Given the description of an element on the screen output the (x, y) to click on. 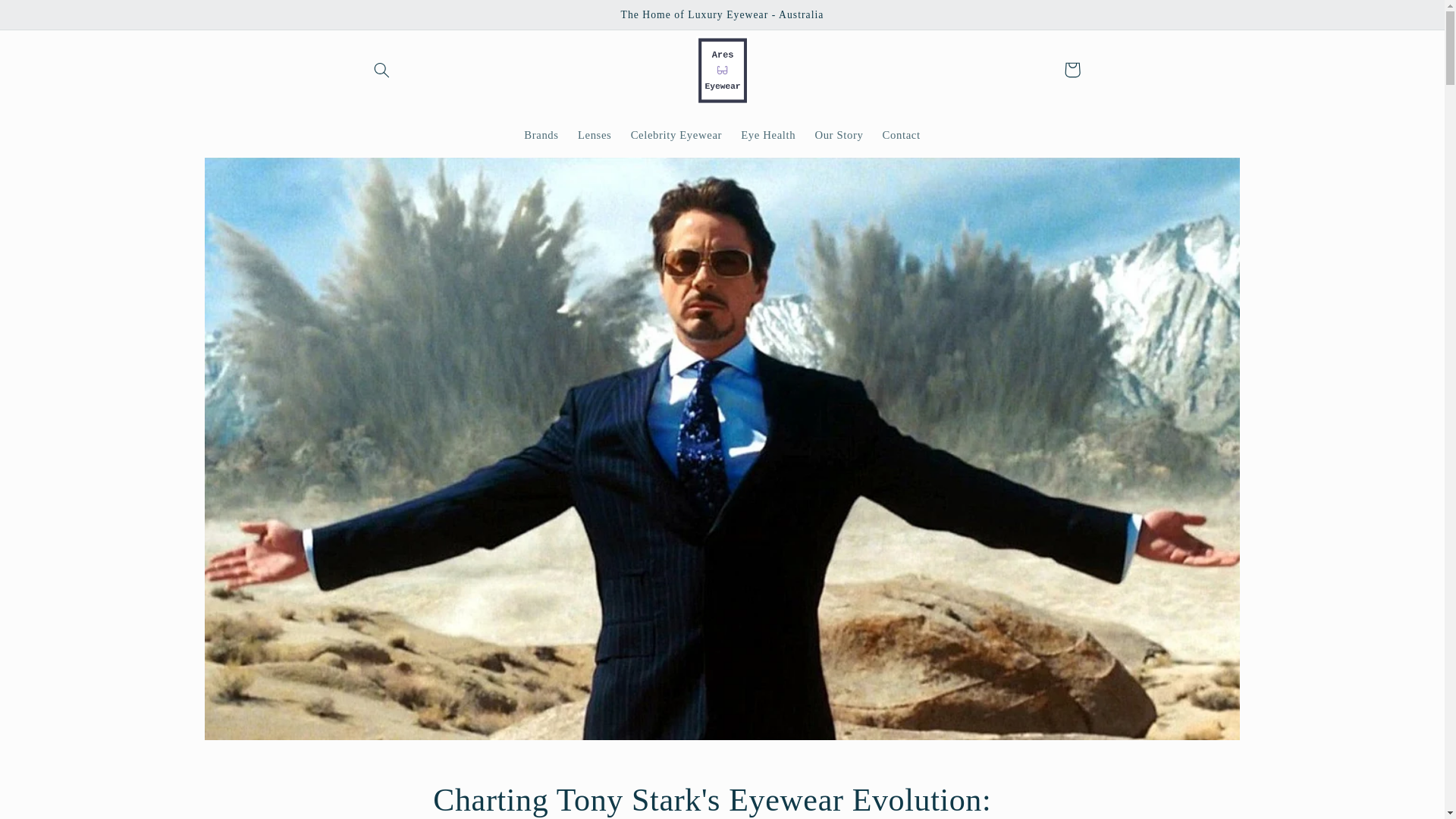
Lenses (594, 134)
Celebrity Eyewear (676, 134)
Contact (901, 134)
Eye Health (768, 134)
Brands (542, 134)
Cart (1071, 69)
Skip to content (48, 18)
Our Story (838, 134)
